Given the description of an element on the screen output the (x, y) to click on. 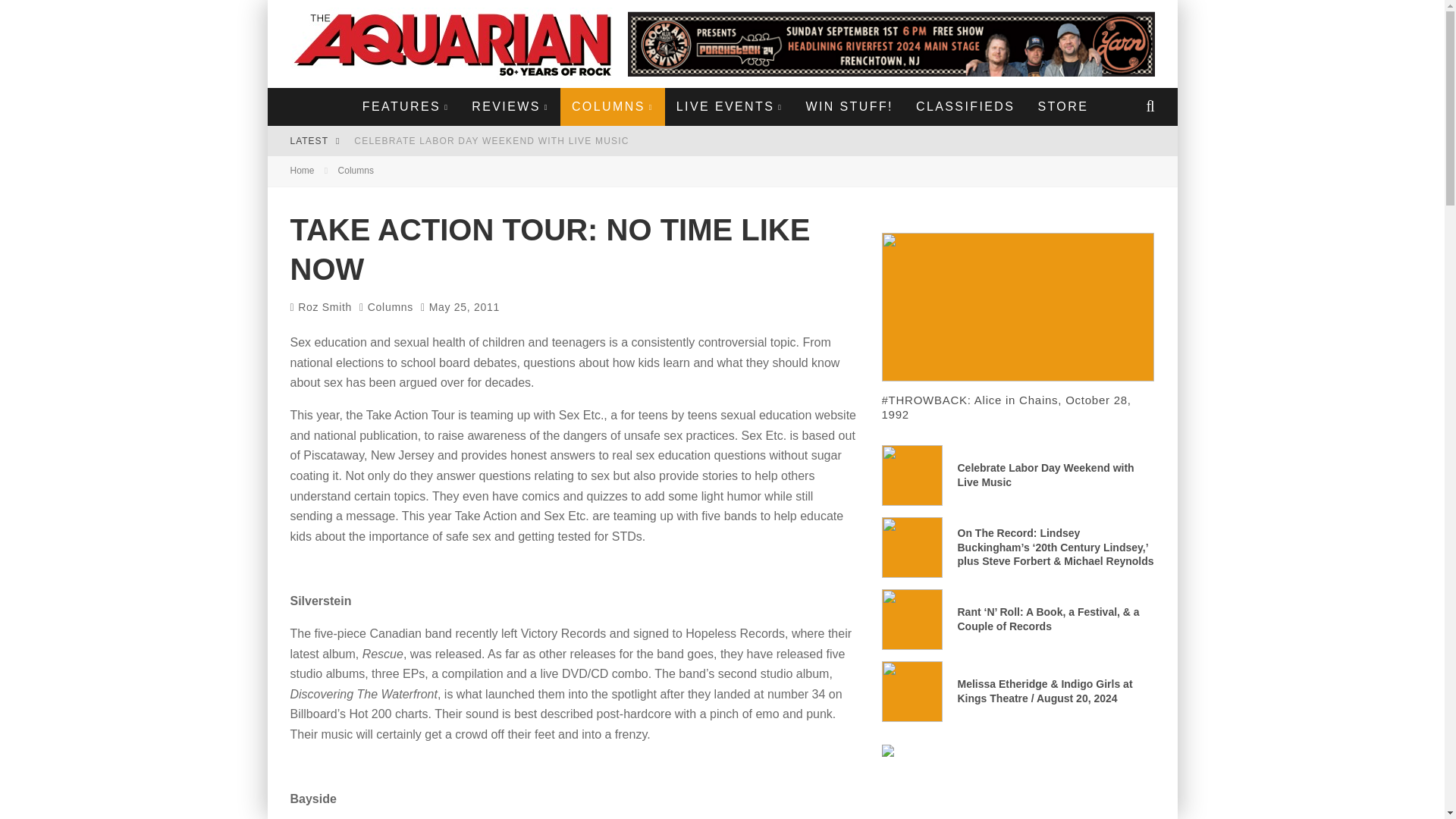
COLUMNS (612, 106)
Celebrate Labor Day Weekend with Live Music (490, 140)
REVIEWS (510, 106)
FEATURES (405, 106)
